Given the description of an element on the screen output the (x, y) to click on. 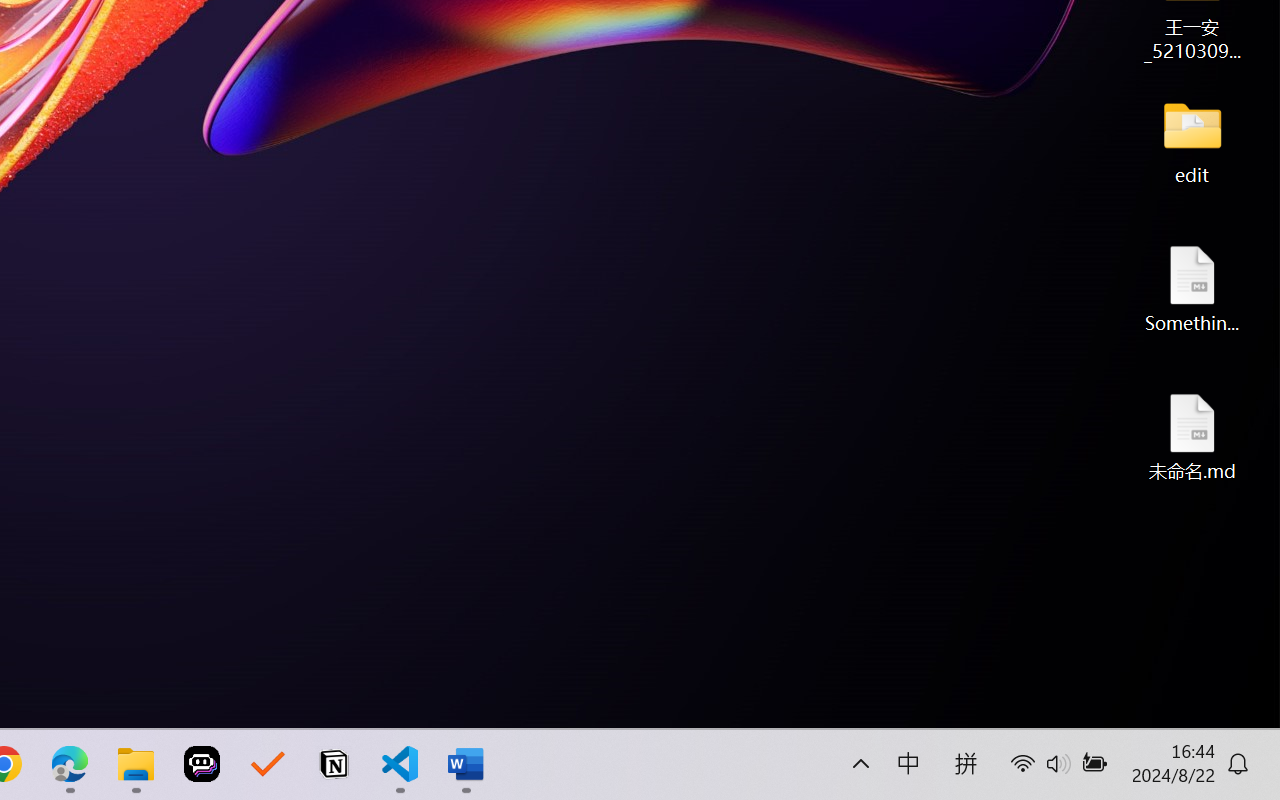
edit (1192, 140)
